Given the description of an element on the screen output the (x, y) to click on. 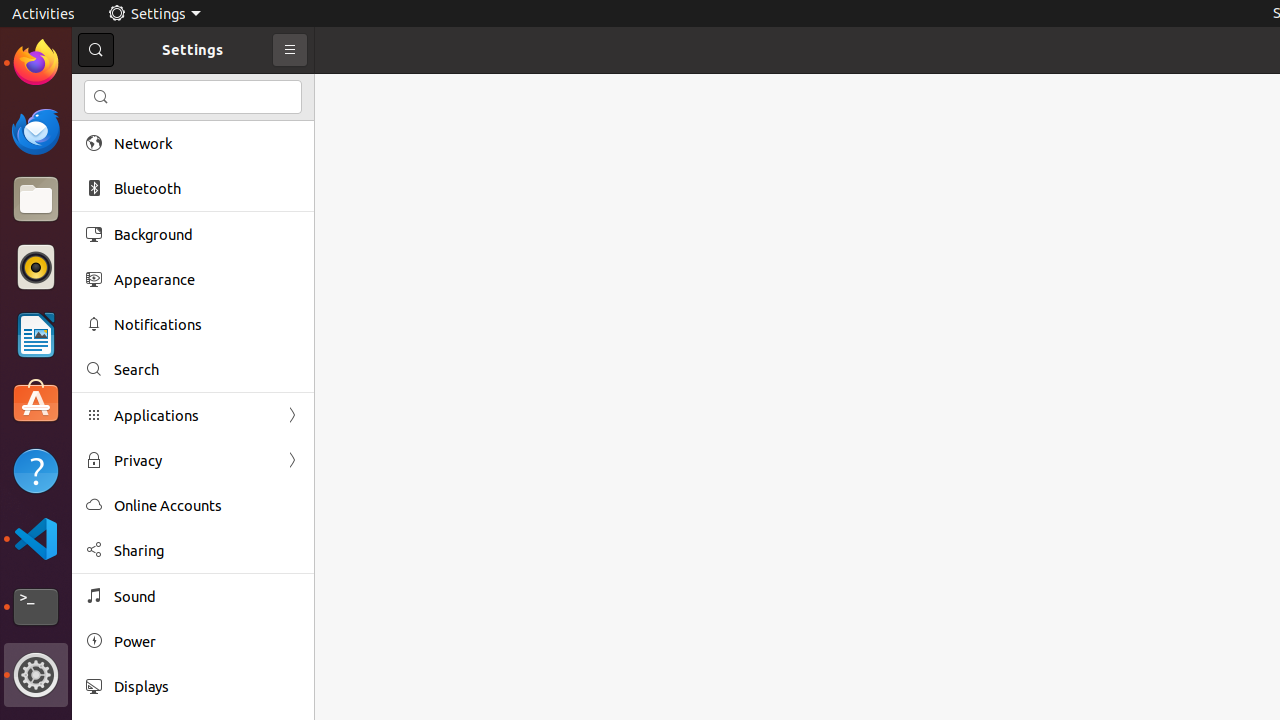
Sharing Element type: label (207, 550)
Sound Element type: label (207, 596)
Settings Element type: push-button (36, 675)
Search Element type: label (207, 369)
